Given the description of an element on the screen output the (x, y) to click on. 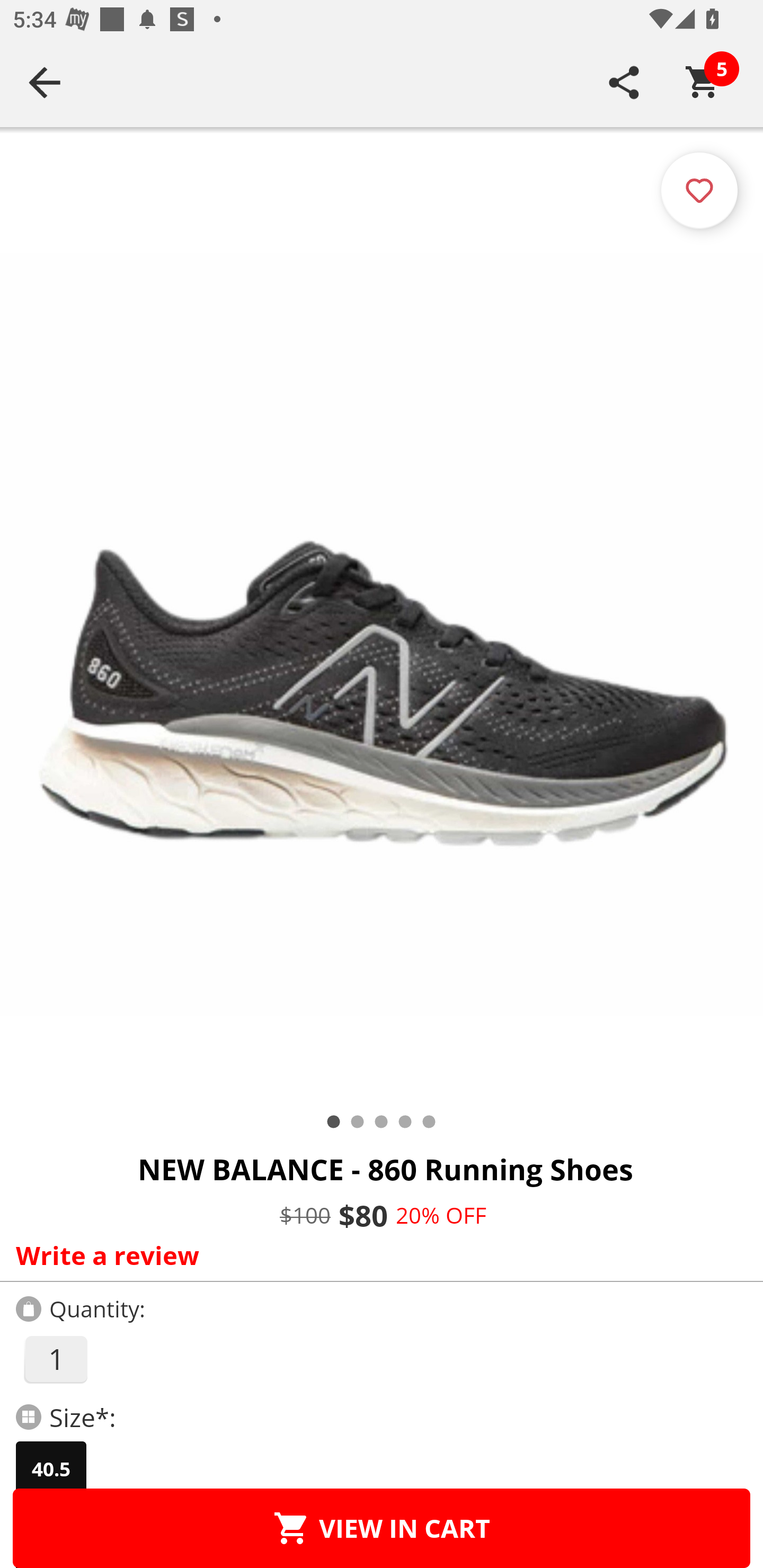
Navigate up (44, 82)
SHARE (623, 82)
Cart (703, 81)
Write a review (377, 1255)
1 (55, 1358)
40.5 (51, 1468)
VIEW IN CART (381, 1528)
